Given the description of an element on the screen output the (x, y) to click on. 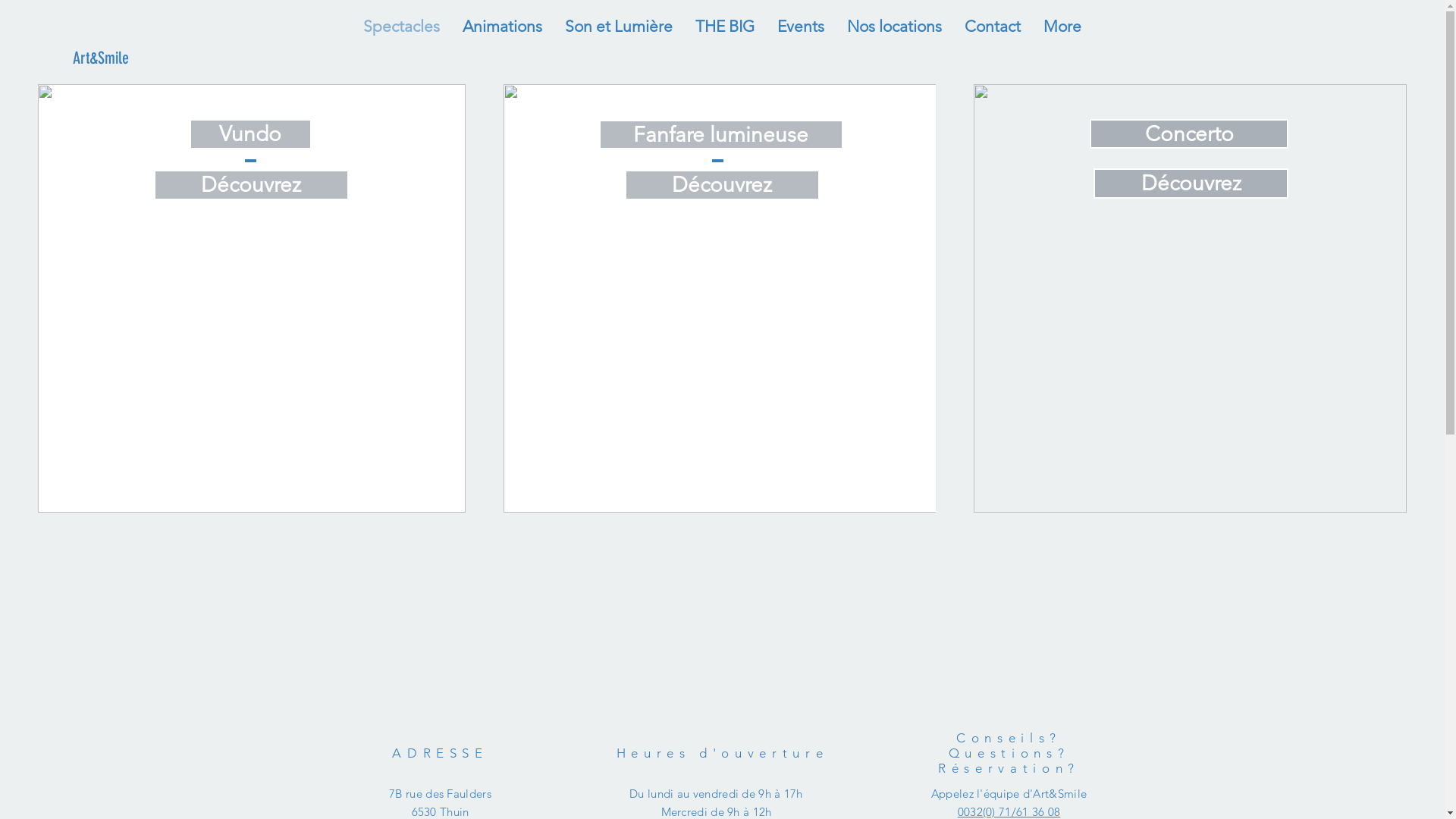
Animations Element type: text (502, 25)
THE BIG Element type: text (724, 25)
Vundo Element type: text (250, 134)
Art&Smile Element type: text (100, 58)
Concerto Element type: text (1188, 133)
Contact Element type: text (992, 25)
Events Element type: text (800, 25)
Fanfare lumineuse Element type: text (721, 134)
Spectacles Element type: text (401, 25)
Nos locations Element type: text (894, 25)
